Given the description of an element on the screen output the (x, y) to click on. 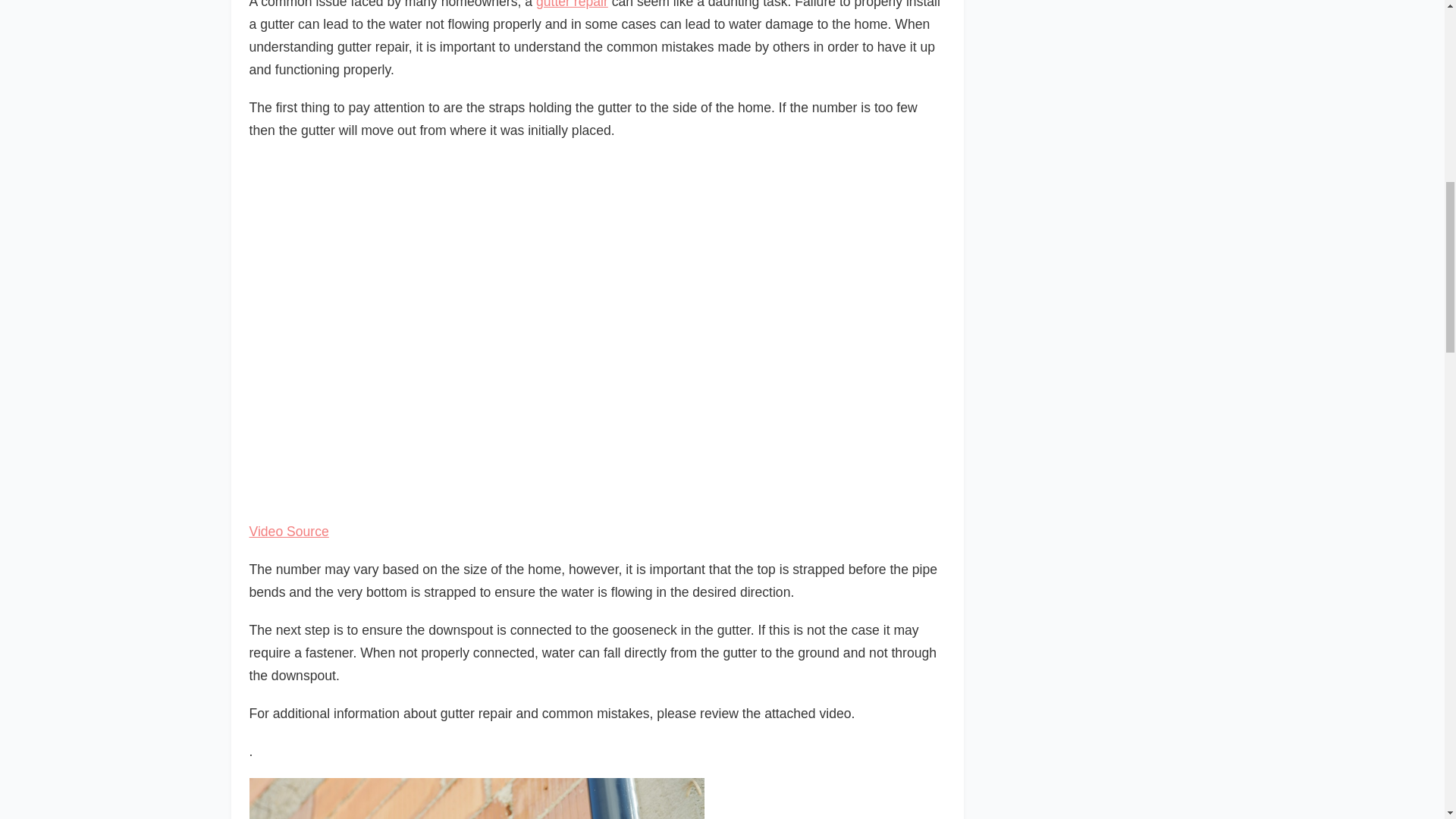
Video Source (288, 531)
gutter repair (571, 4)
